Given the description of an element on the screen output the (x, y) to click on. 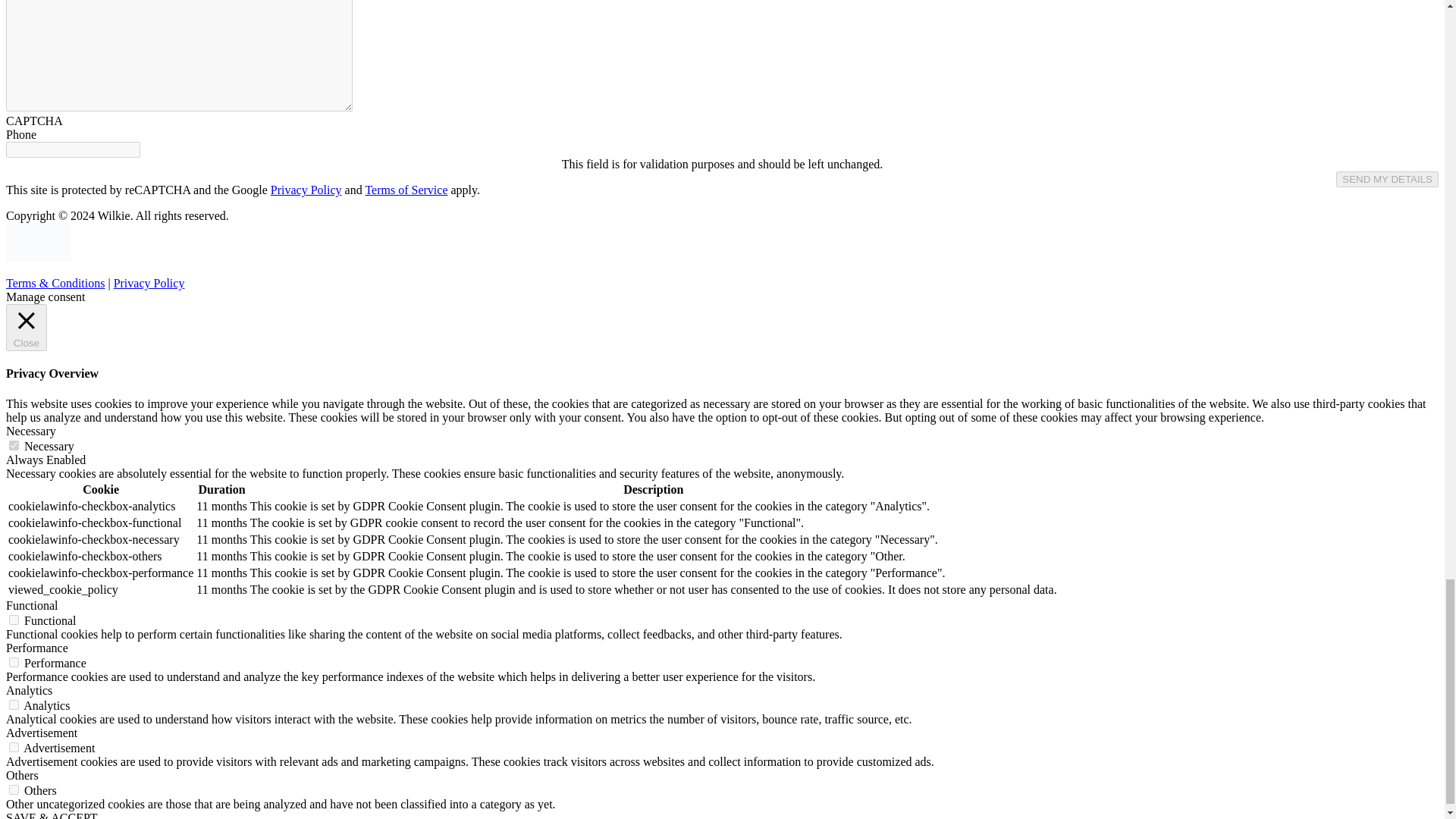
Performance (36, 647)
on (13, 662)
Privacy Policy (306, 189)
Terms of Service (405, 189)
on (13, 619)
Necessary (30, 431)
on (13, 705)
Functional (31, 604)
wilkie-logo (38, 241)
Privacy Policy (148, 282)
Others (22, 775)
on (13, 445)
Advertisement (41, 732)
Analytics (28, 689)
on (13, 789)
